Given the description of an element on the screen output the (x, y) to click on. 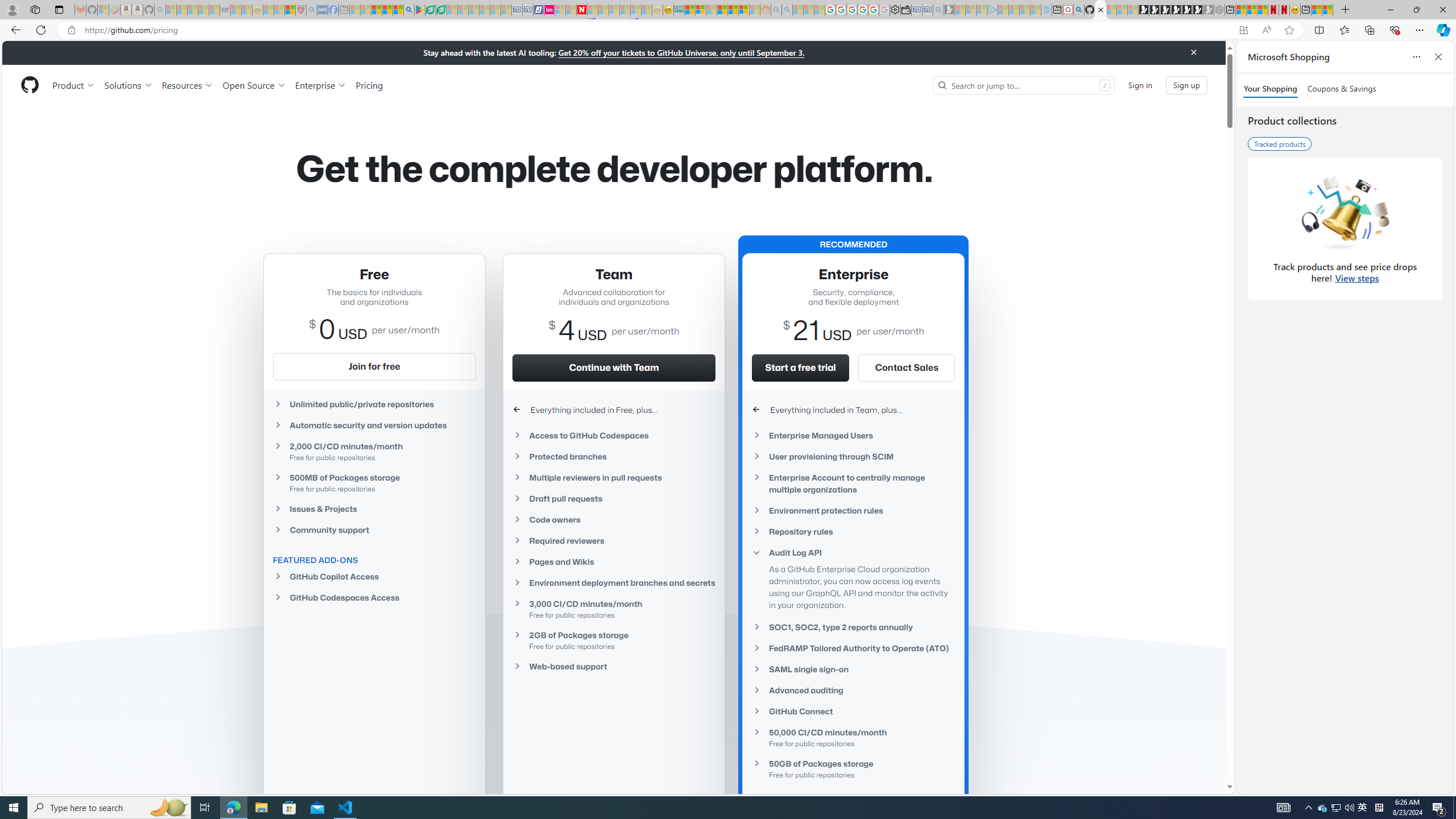
Code owners (614, 519)
Homepage (29, 85)
Enterprise (319, 84)
Required reviewers (614, 540)
SOC1, SOC2, type 2 reports annually (853, 627)
Repository rules (853, 531)
GitHub Codespaces Access (374, 597)
Enterprise Managed Users (853, 435)
